Given the description of an element on the screen output the (x, y) to click on. 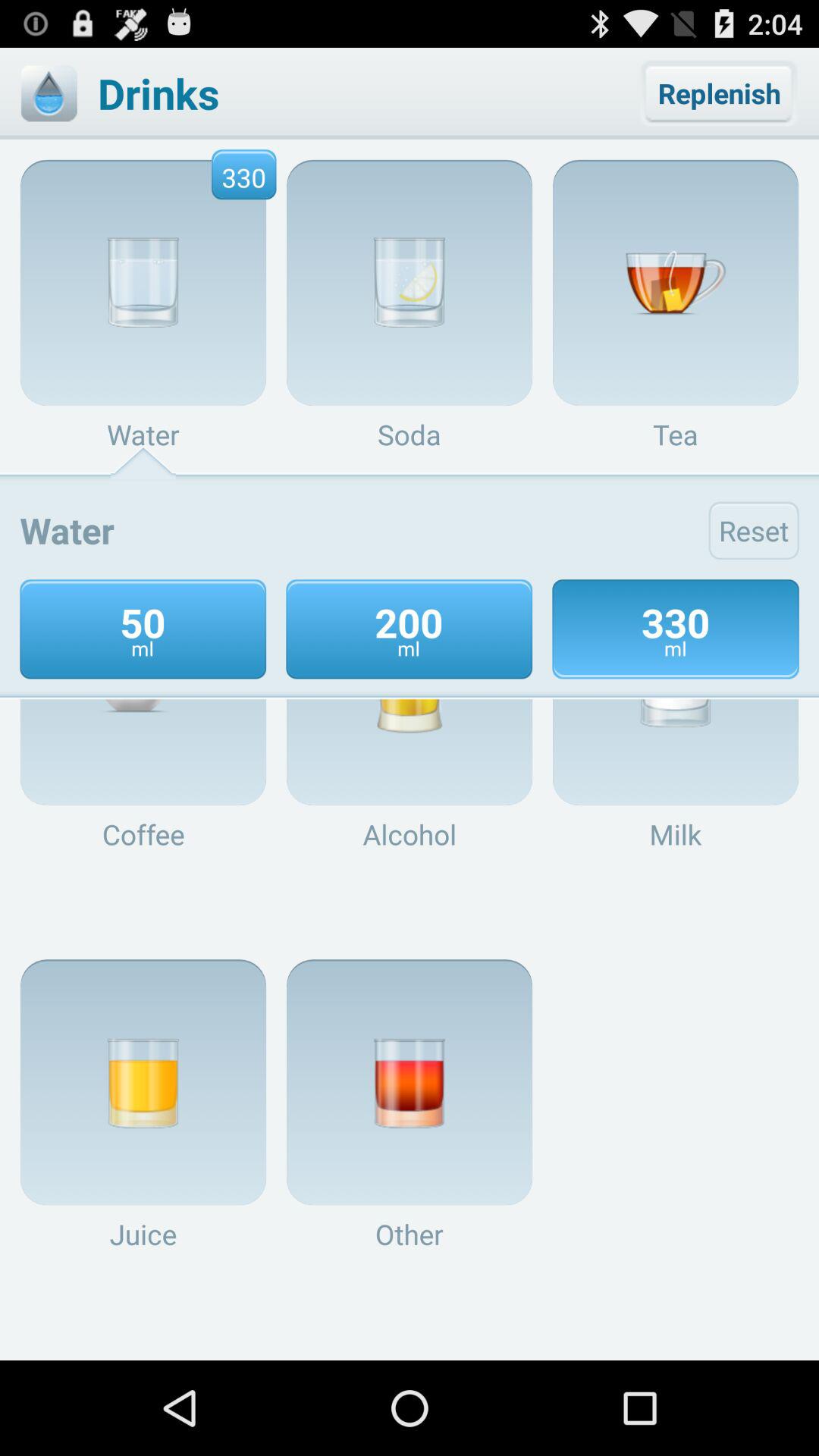
select drink (48, 93)
